Given the description of an element on the screen output the (x, y) to click on. 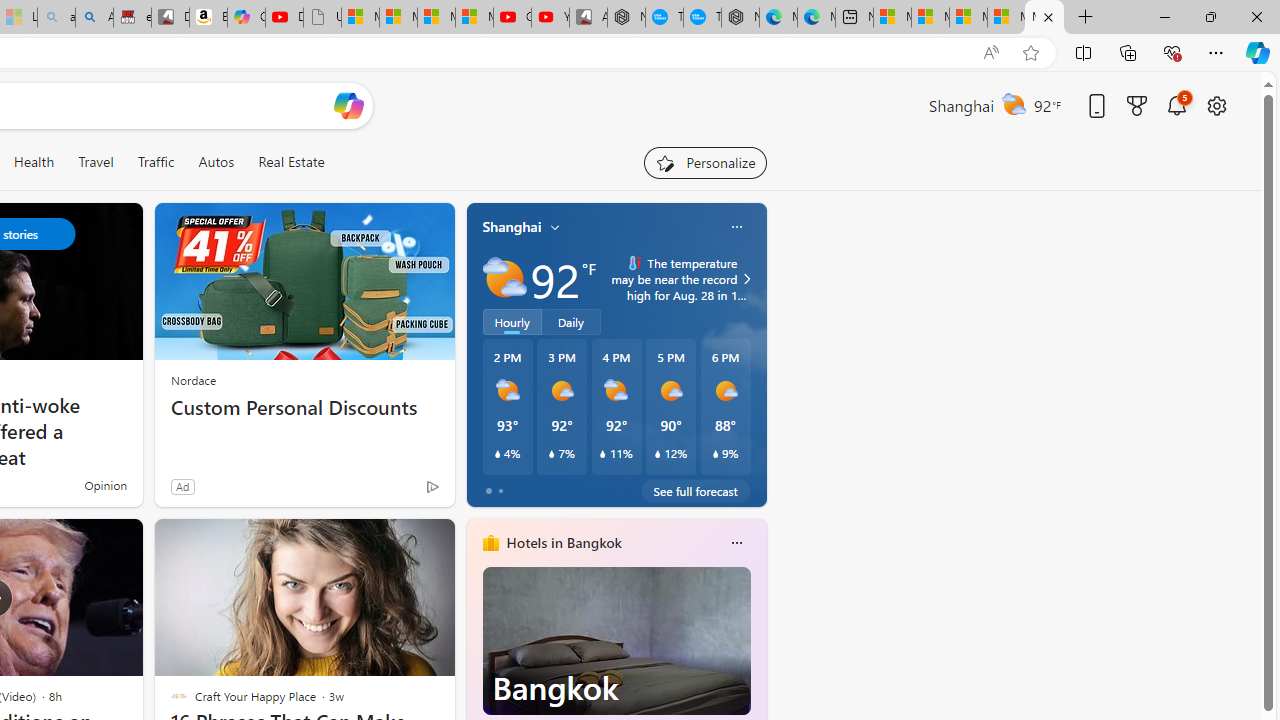
Partly sunny (504, 278)
Untitled (321, 17)
See full forecast (695, 490)
tab-1 (500, 490)
Health (33, 162)
Microsoft rewards (1137, 105)
